Given the description of an element on the screen output the (x, y) to click on. 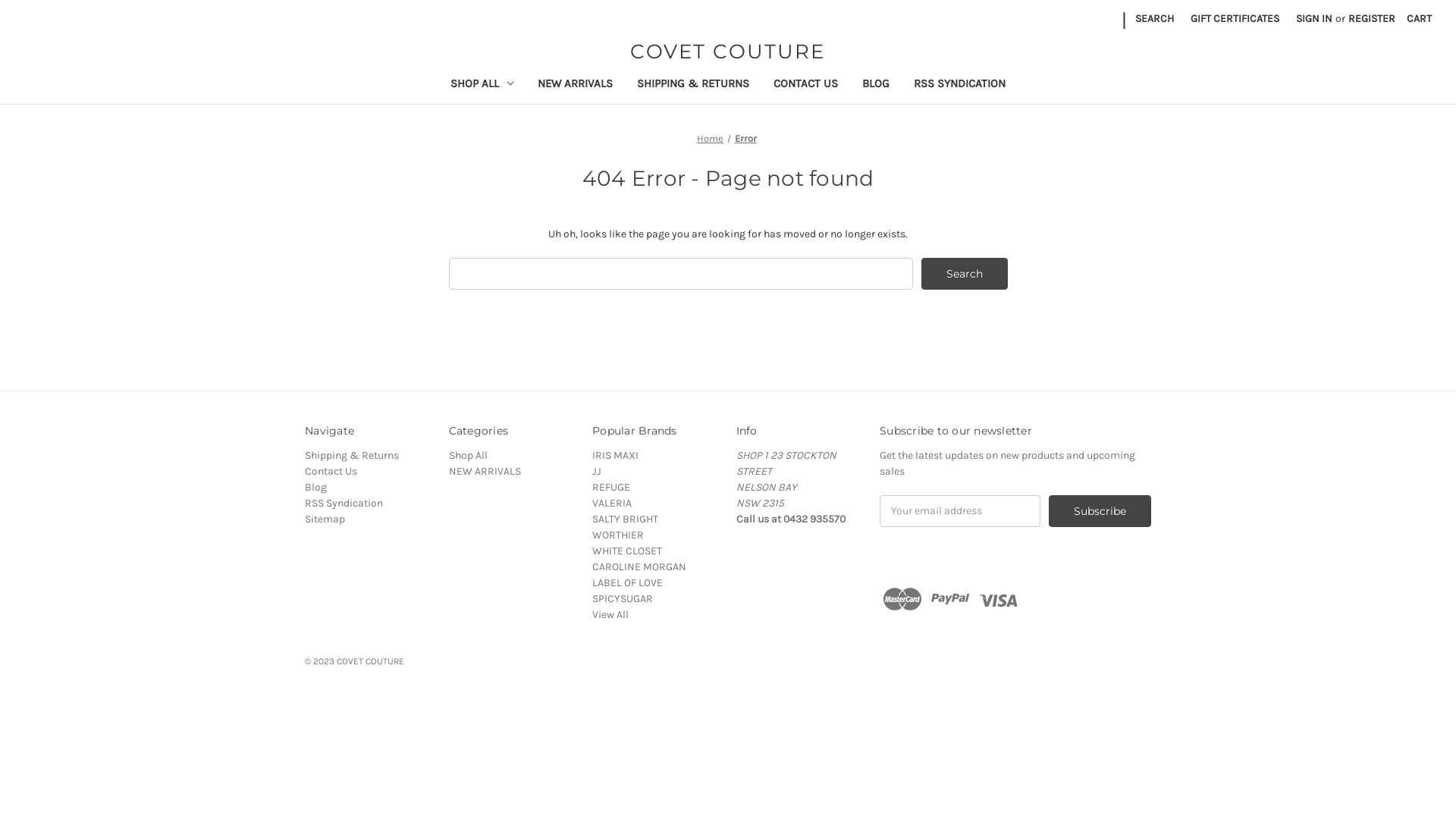
Contact Us Element type: text (330, 470)
Sitemap Element type: text (324, 518)
NEW ARRIVALS Element type: text (574, 84)
SHOP ALL Element type: text (481, 84)
COVET COUTURE Element type: text (727, 51)
RSS Syndication Element type: text (343, 502)
BLOG Element type: text (875, 84)
CART Element type: text (1419, 18)
SPICYSUGAR Element type: text (622, 598)
REFUGE Element type: text (611, 486)
SALTY BRIGHT Element type: text (625, 518)
SHIPPING & RETURNS Element type: text (692, 84)
Search Element type: text (964, 273)
Shop All Element type: text (467, 454)
LABEL OF LOVE Element type: text (627, 582)
SEARCH Element type: text (1154, 18)
NEW ARRIVALS Element type: text (484, 470)
Home Element type: text (709, 138)
SIGN IN Element type: text (1313, 18)
WHITE CLOSET Element type: text (627, 550)
Shipping & Returns Element type: text (351, 454)
REGISTER Element type: text (1371, 18)
View All Element type: text (610, 614)
GIFT CERTIFICATES Element type: text (1234, 18)
CONTACT US Element type: text (805, 84)
RSS SYNDICATION Element type: text (959, 84)
CAROLINE MORGAN Element type: text (639, 566)
Subscribe Element type: text (1099, 511)
Error Element type: text (745, 138)
WORTHIER Element type: text (617, 534)
VALERIA Element type: text (611, 502)
IRIS MAXI Element type: text (615, 454)
JJ Element type: text (596, 470)
Blog Element type: text (315, 486)
